Given the description of an element on the screen output the (x, y) to click on. 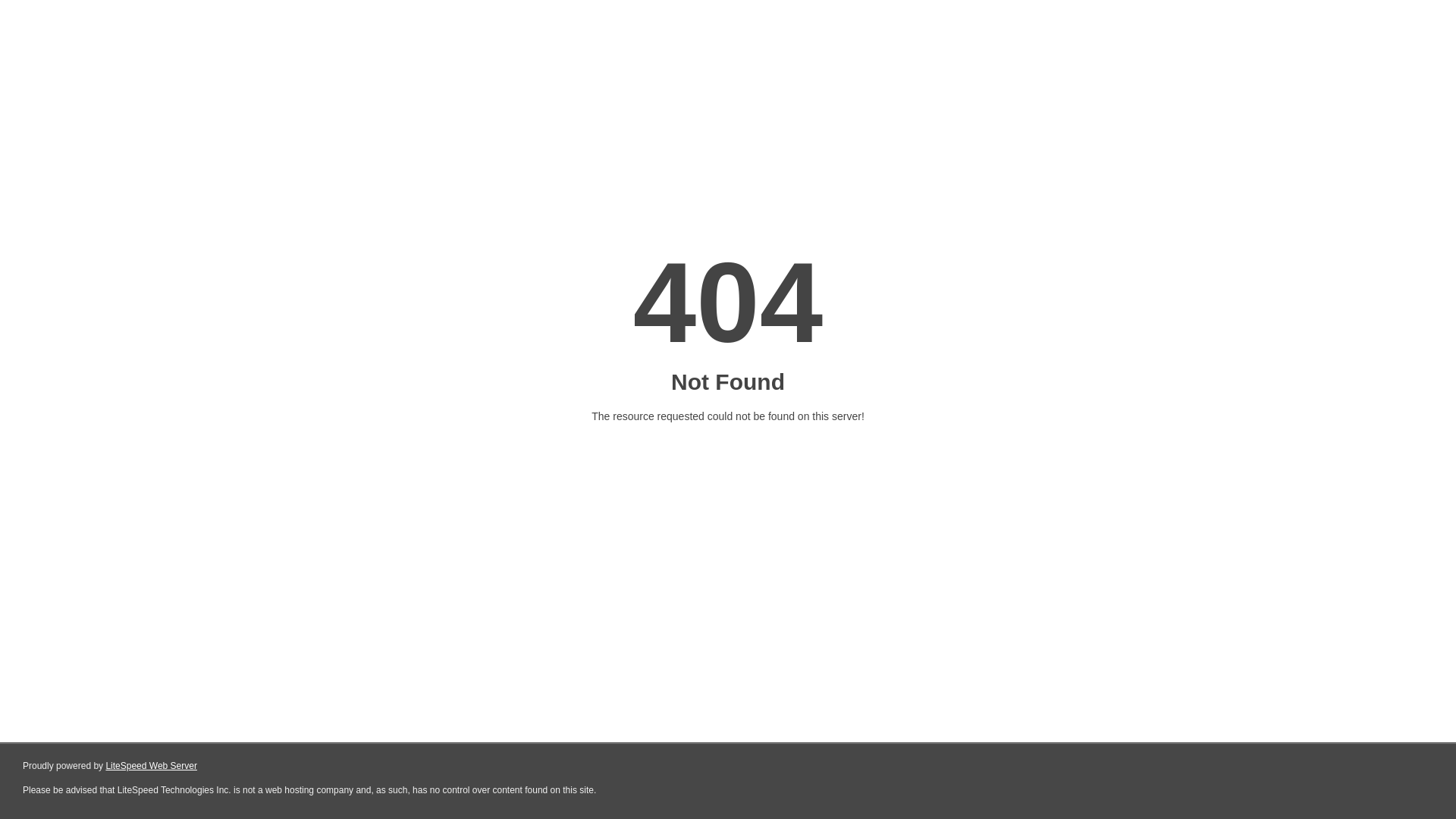
LiteSpeed Web Server Element type: text (151, 765)
